Given the description of an element on the screen output the (x, y) to click on. 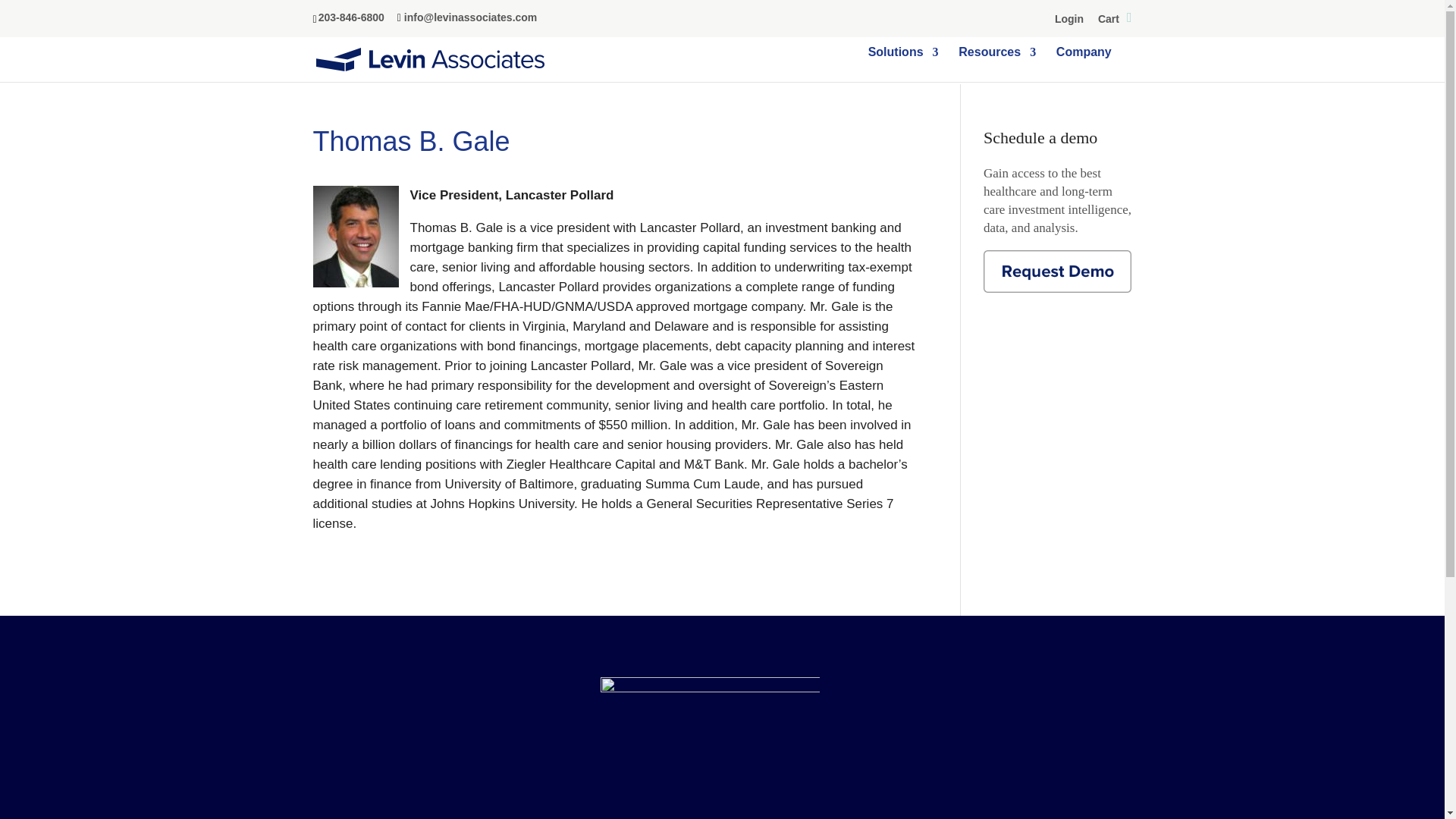
Company (1084, 63)
Cart (1114, 21)
Solutions (903, 63)
Login (1068, 21)
Resources (996, 63)
